Given the description of an element on the screen output the (x, y) to click on. 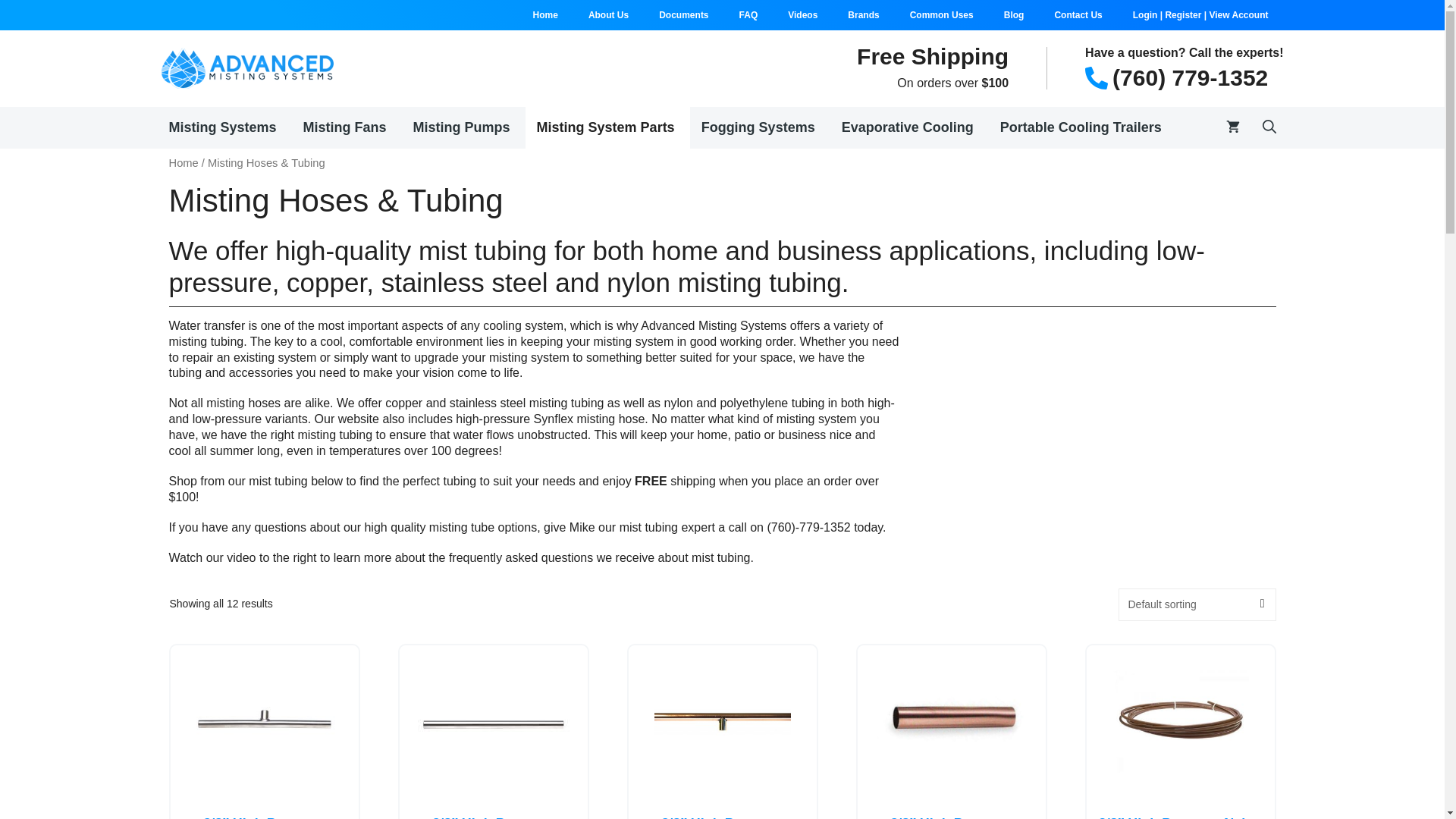
FAQ (748, 15)
Documents (683, 15)
Home (545, 15)
Blog (1013, 15)
About Us (608, 15)
Common Uses (941, 15)
Videos (802, 15)
Contact Us (1077, 15)
View your shopping cart (1232, 127)
Brands (862, 15)
